Given the description of an element on the screen output the (x, y) to click on. 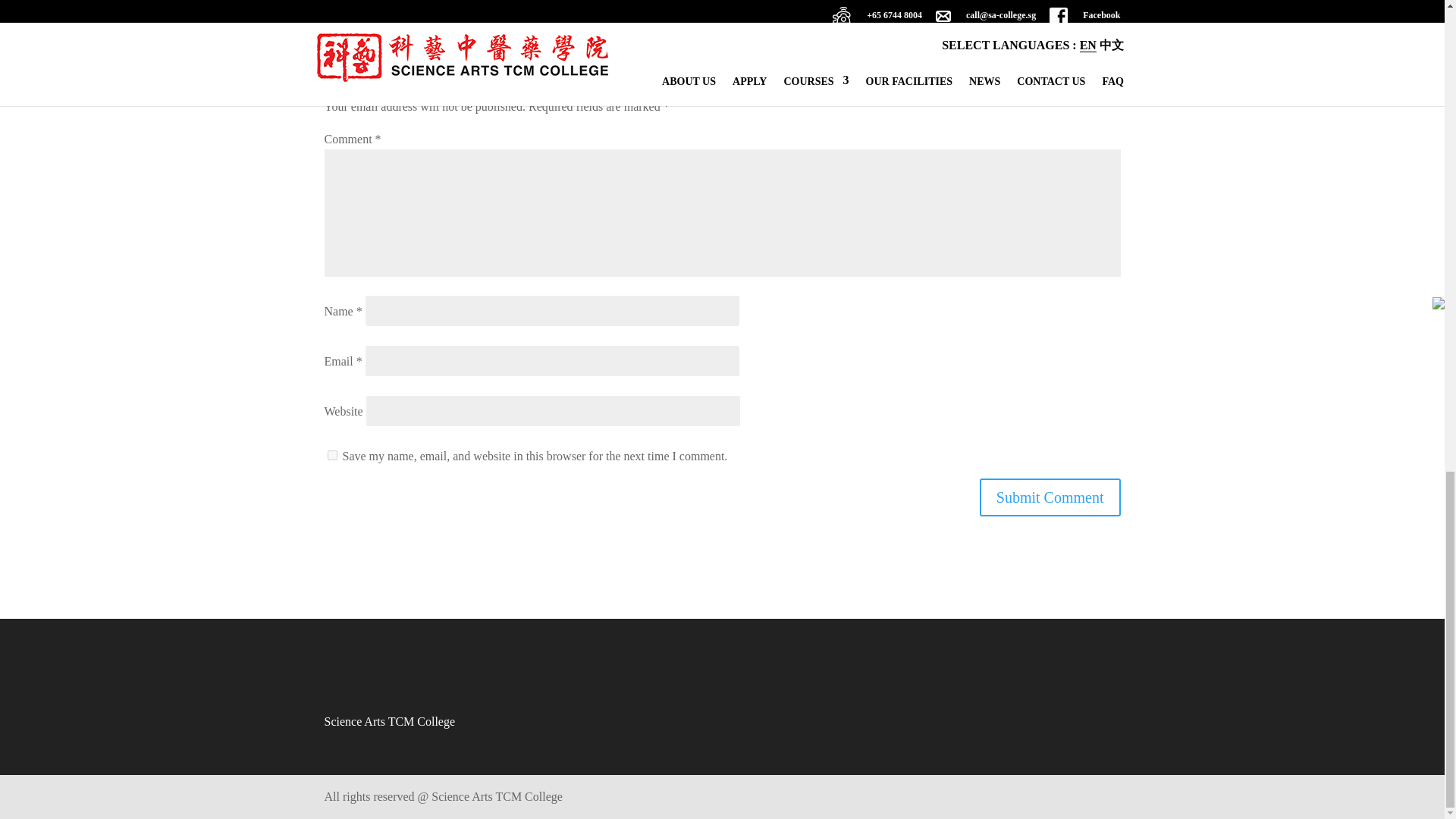
yes (332, 455)
Submit Comment (1050, 497)
Submit Comment (1050, 497)
